Given the description of an element on the screen output the (x, y) to click on. 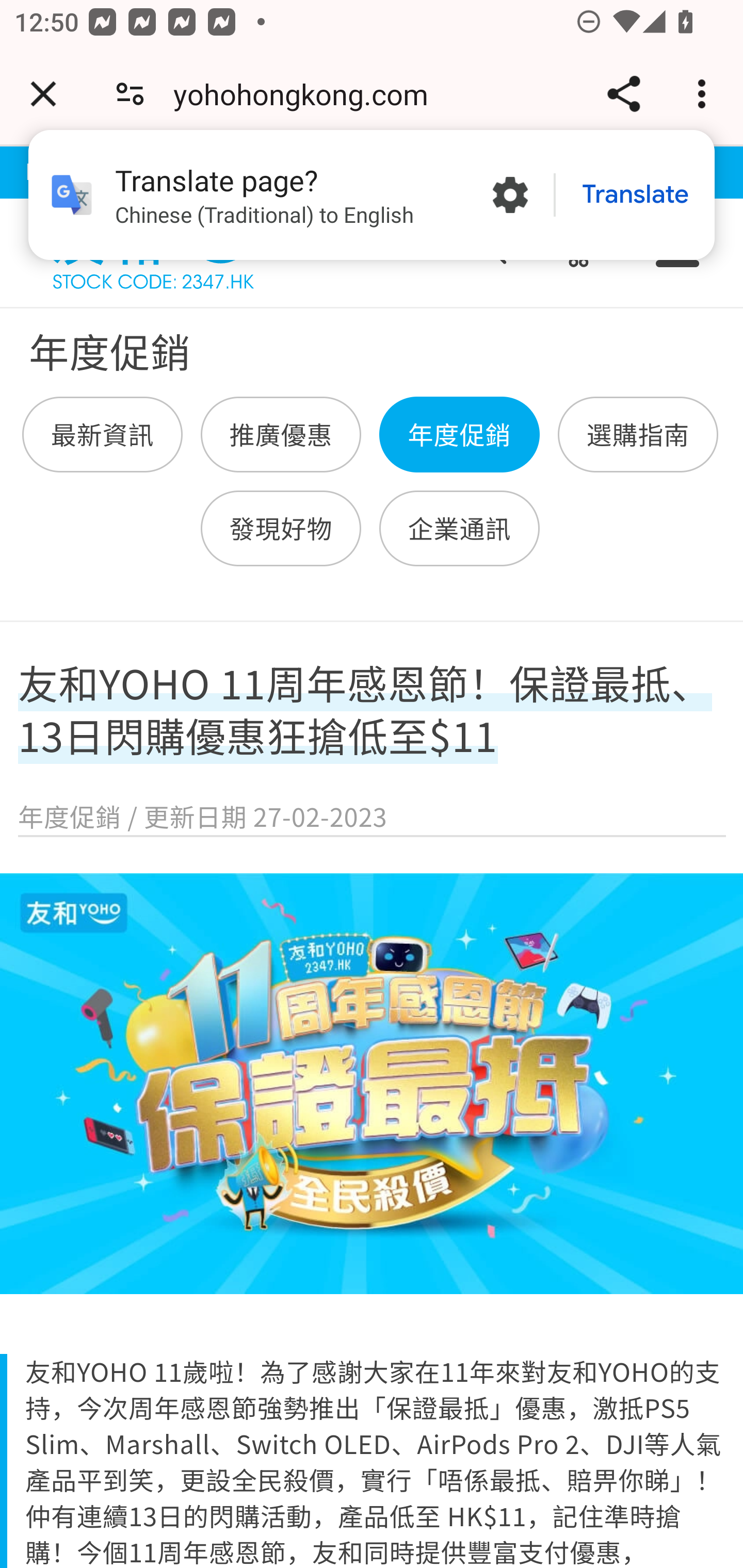
Close tab (43, 93)
Share (623, 93)
Customize and control Google Chrome (705, 93)
Connection is secure (129, 93)
yohohongkong.com (307, 93)
Translate (634, 195)
More options in the Translate page? (509, 195)
最新資訊 (102, 435)
推廣優惠 (280, 435)
年度促銷 (458, 435)
選購指南 (637, 435)
發現好物 (280, 528)
企業通訊 (458, 528)
